Given the description of an element on the screen output the (x, y) to click on. 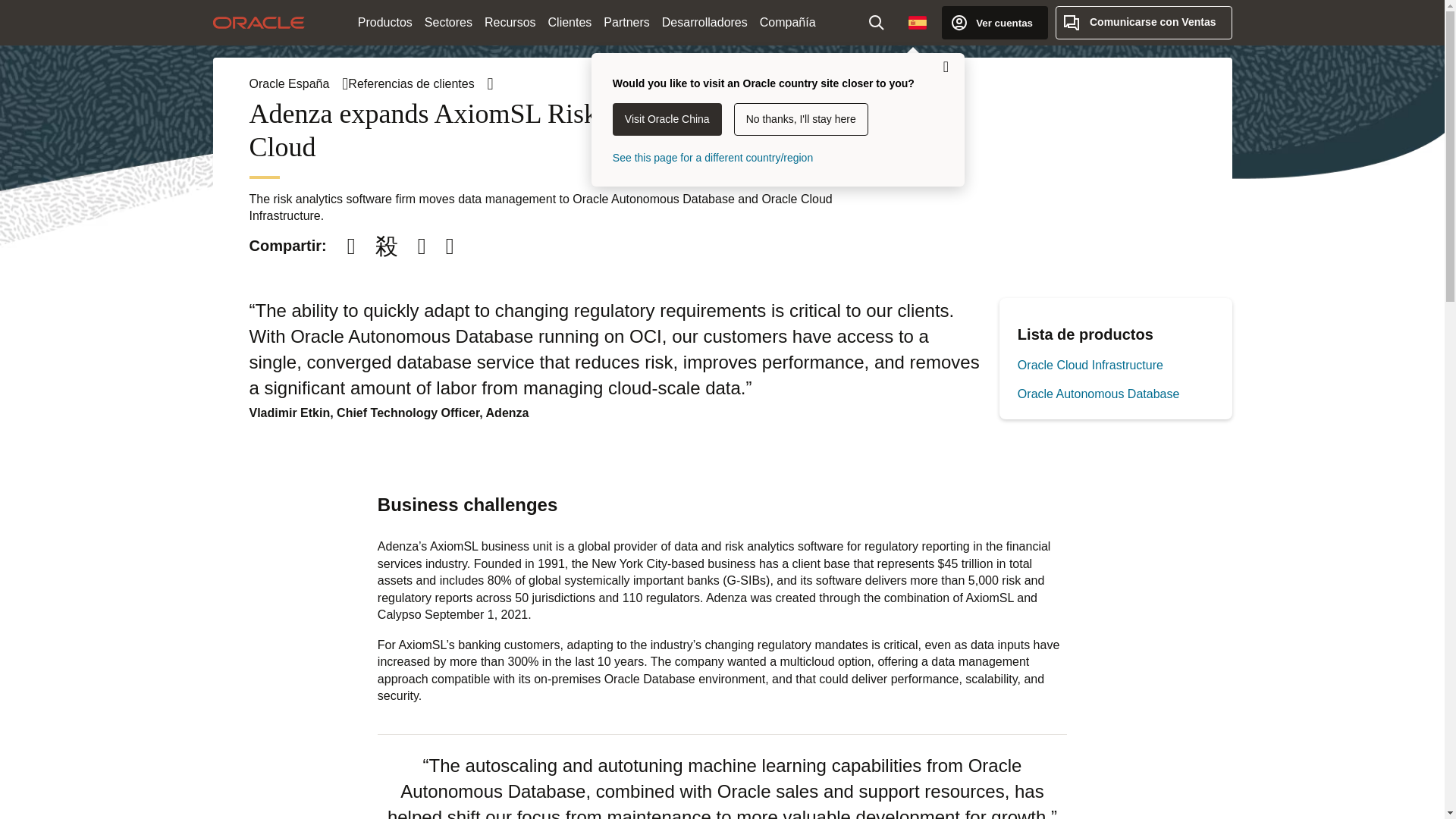
Comunicarse con Ventas (1143, 22)
Sectores (449, 22)
Productos (385, 22)
Ver cuentas (995, 22)
Desarrolladores (705, 22)
Comunicarse con Ventas (1143, 22)
Country (917, 22)
Clientes (569, 22)
Partners (625, 22)
Referencias de clientes (420, 83)
No thanks, I'll stay here (800, 119)
Share on Twitter (386, 246)
Visit Oracle China (667, 119)
Recursos (510, 22)
